Given the description of an element on the screen output the (x, y) to click on. 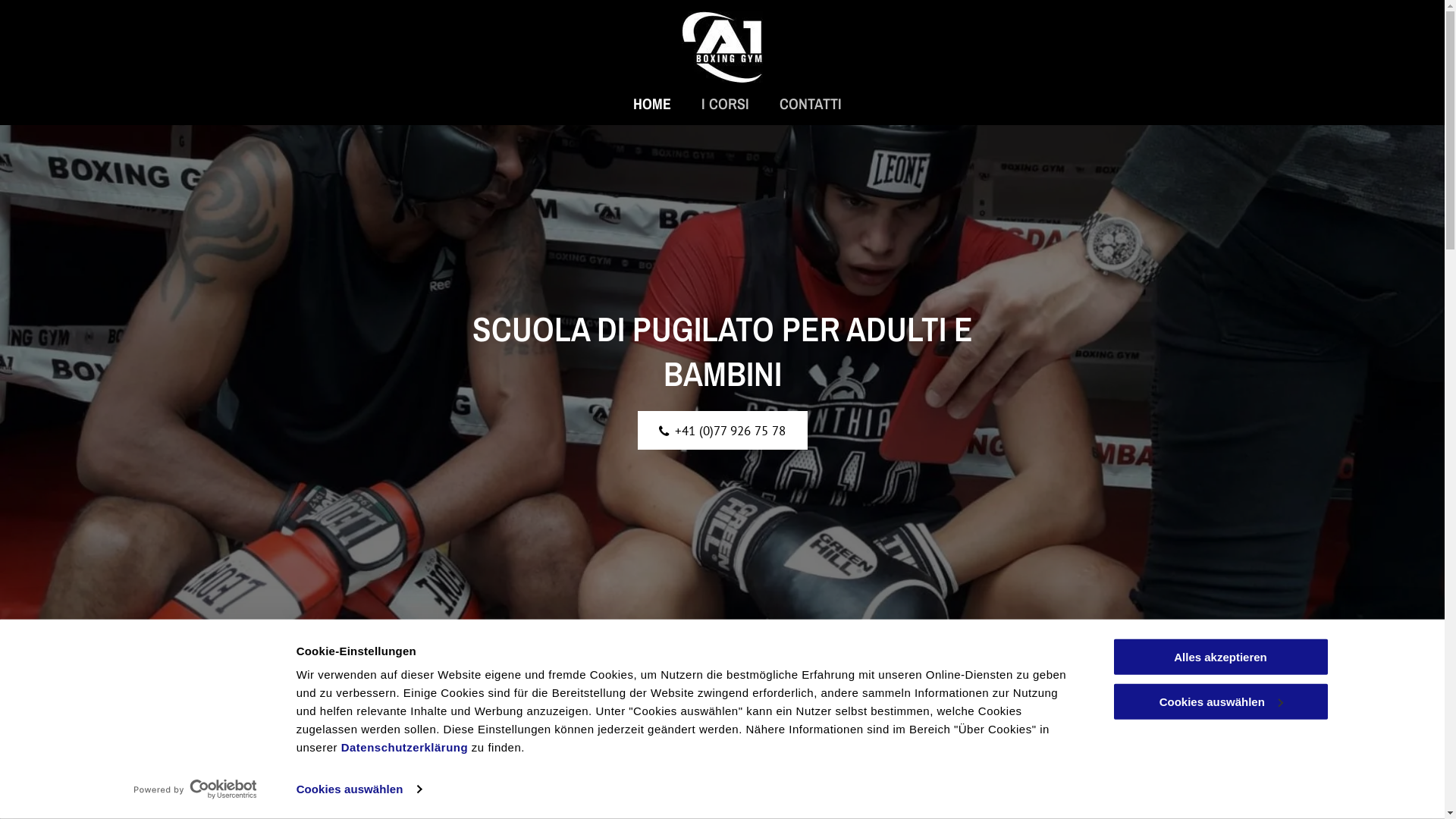
CONTATTI Element type: text (810, 103)
HOME Element type: text (652, 103)
+41 (0)77 926 75 78 Element type: text (721, 430)
Alles akzeptieren Element type: text (1219, 656)
I CORSI Element type: text (725, 103)
